Given the description of an element on the screen output the (x, y) to click on. 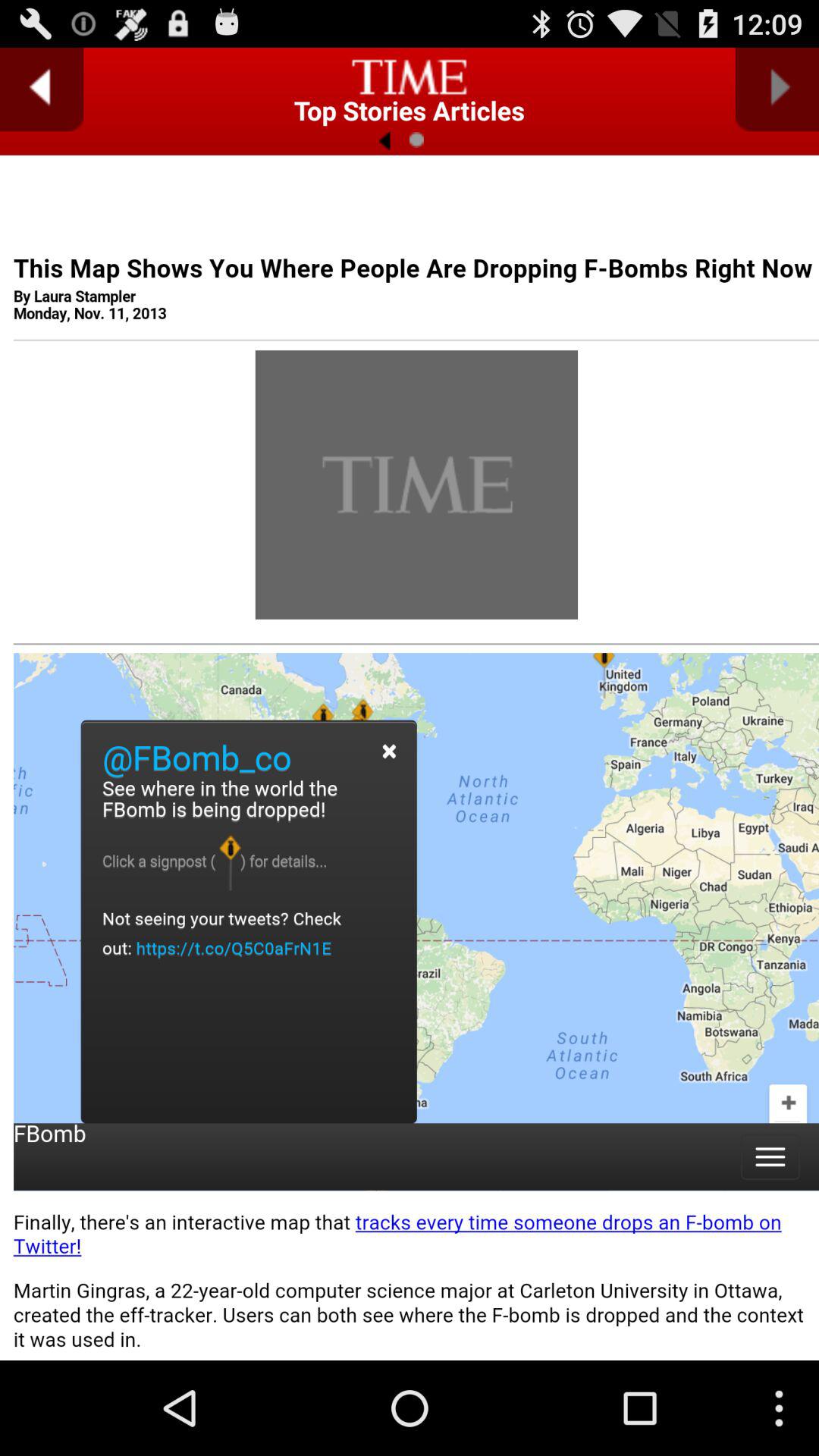
next page icon (777, 89)
